Given the description of an element on the screen output the (x, y) to click on. 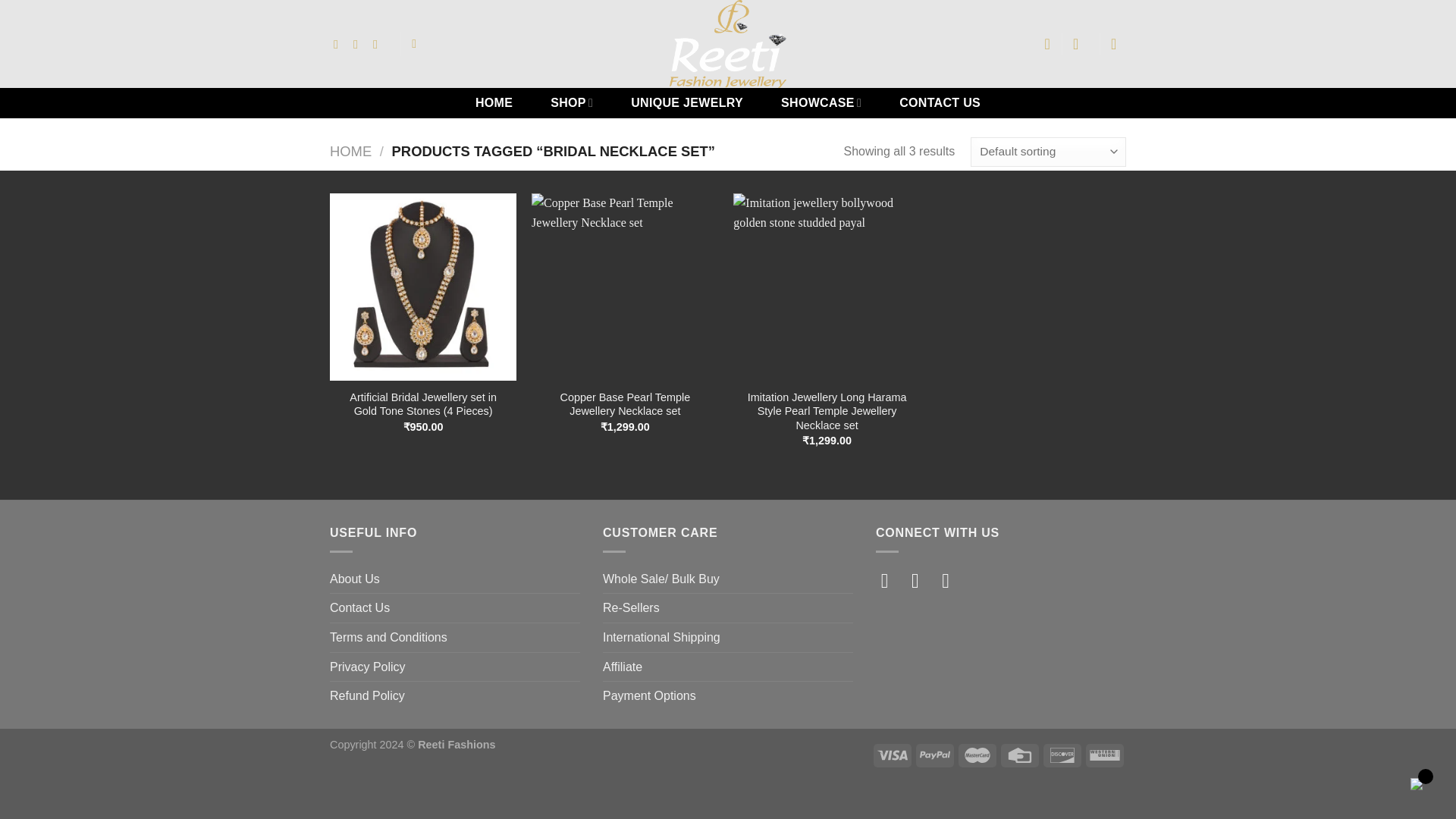
Follow on Facebook (890, 580)
HOME (493, 102)
Follow on Instagram (921, 580)
Follow on Twitter (952, 580)
UNIQUE JEWELRY (686, 102)
SHOWCASE (820, 102)
SHOP (571, 102)
